Given the description of an element on the screen output the (x, y) to click on. 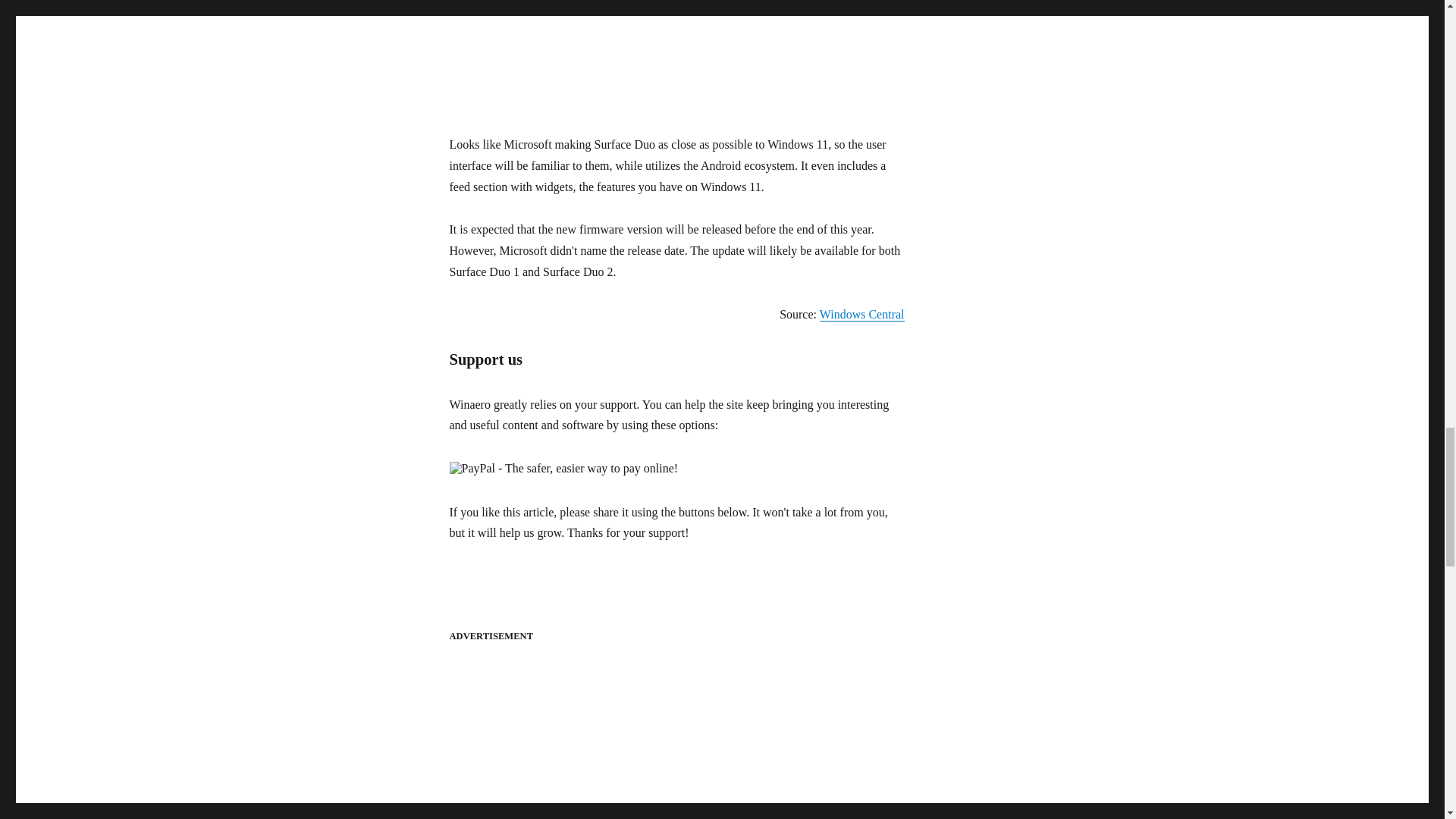
Windows Central (861, 314)
